Given the description of an element on the screen output the (x, y) to click on. 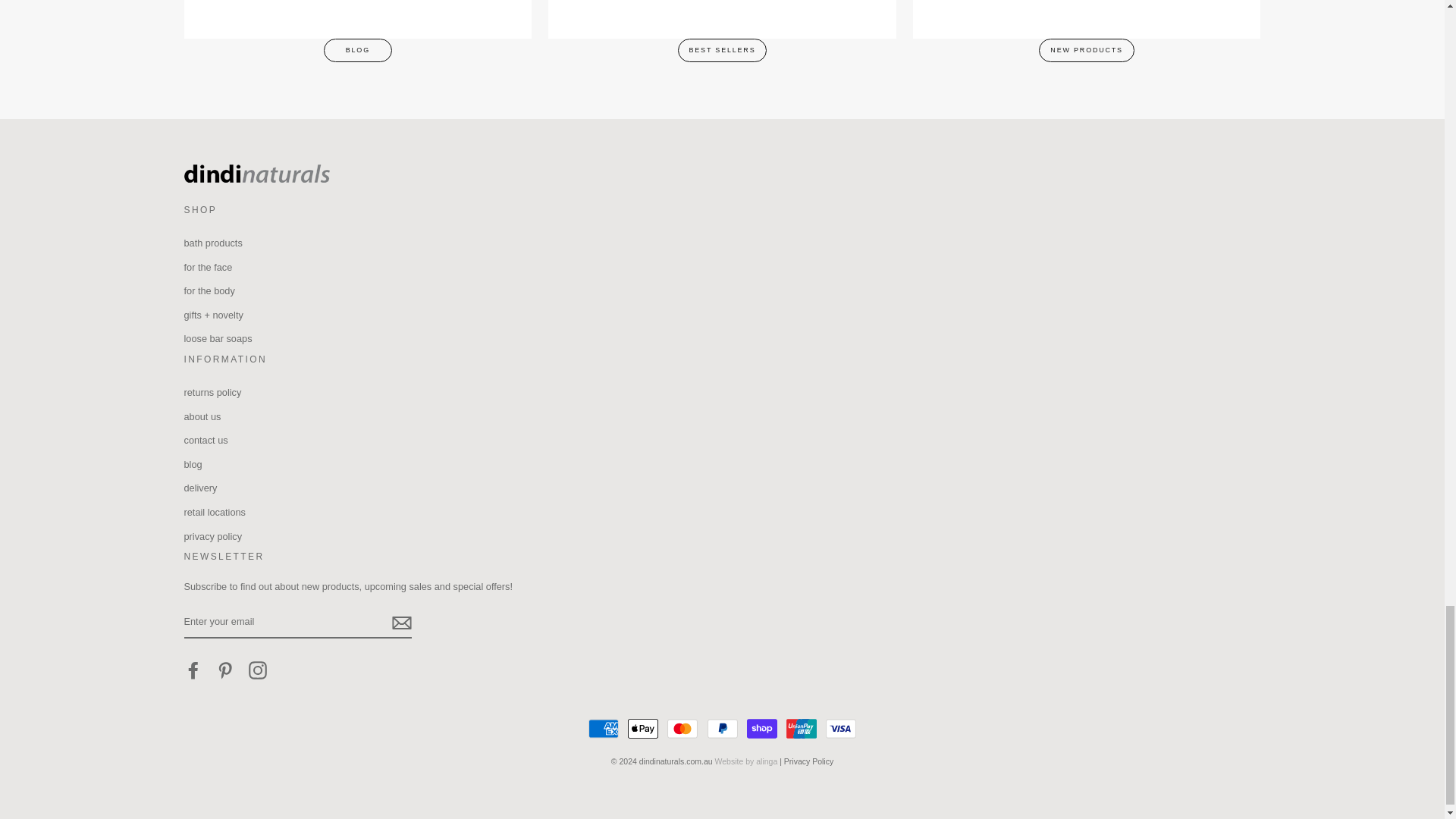
PayPal (721, 728)
Mastercard (681, 728)
dindinaturals.com.au on Pinterest (224, 669)
Shop Pay (761, 728)
dindinaturals.com.au on Instagram (257, 669)
Apple Pay (642, 728)
American Express (603, 728)
dindinaturals.com.au on Facebook (192, 669)
